Given the description of an element on the screen output the (x, y) to click on. 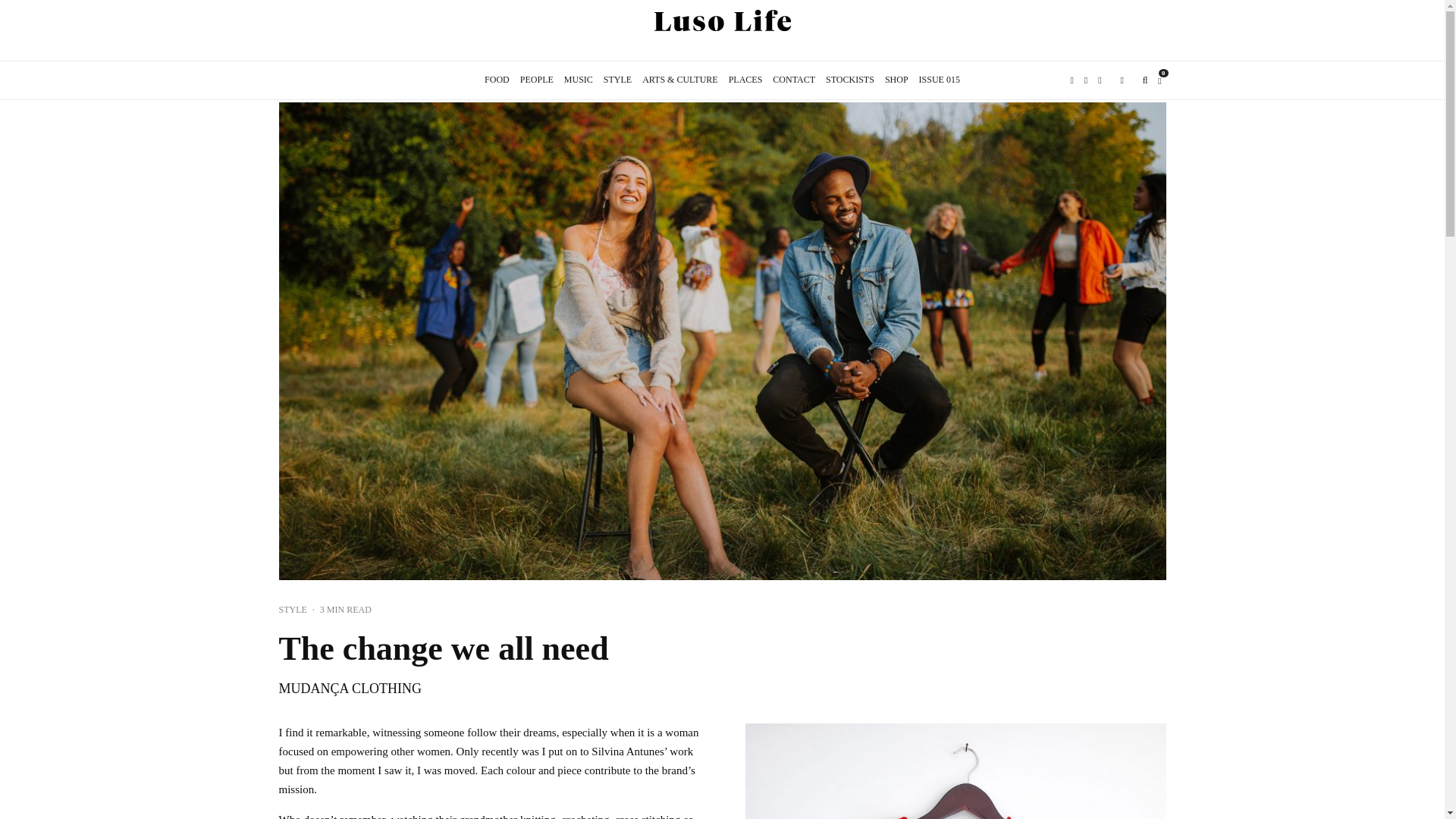
PEOPLE (537, 80)
MUSIC (578, 80)
STYLE (617, 80)
FOOD (497, 80)
